Given the description of an element on the screen output the (x, y) to click on. 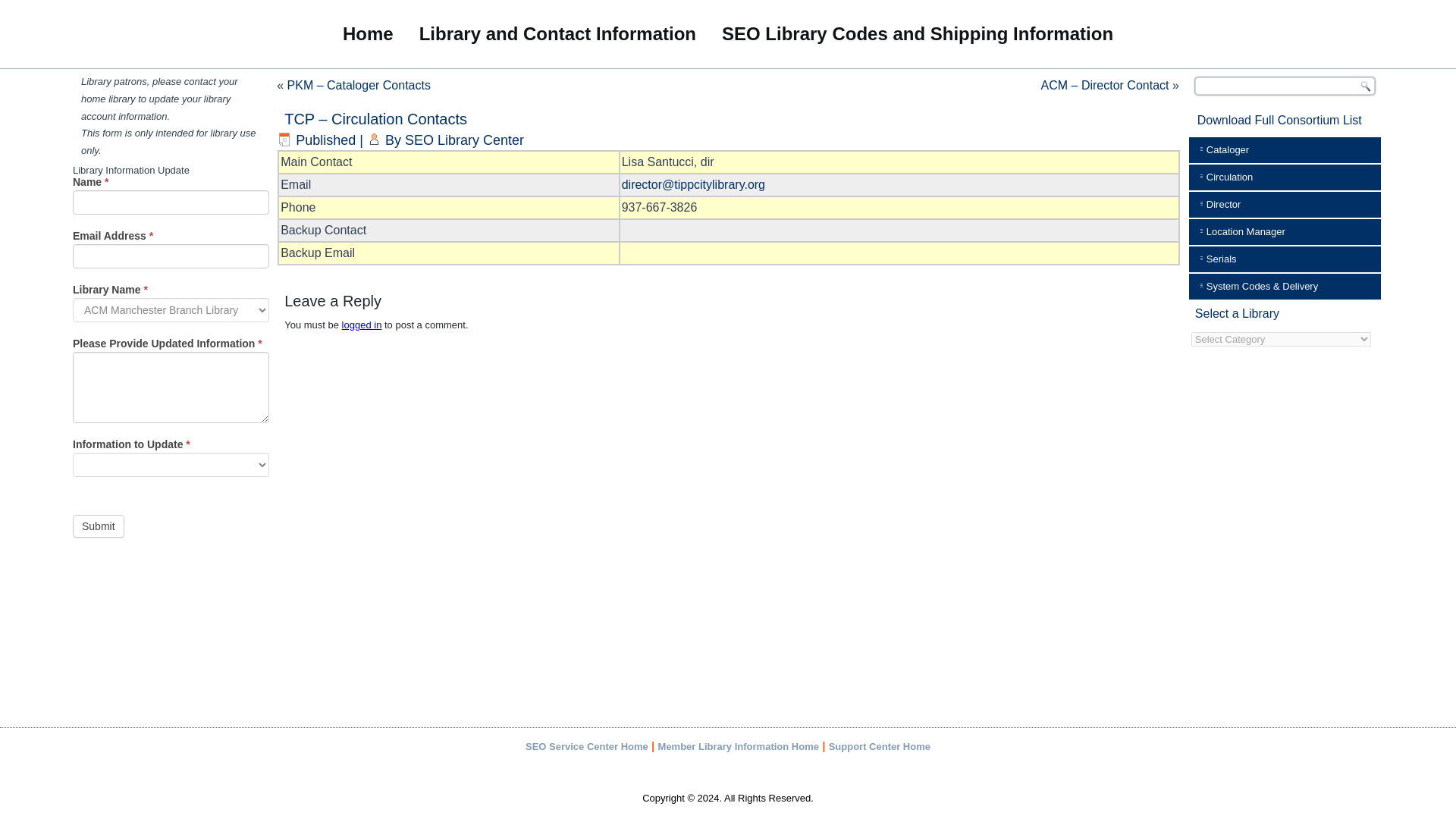
Circulation (1284, 177)
Home (368, 33)
Location Manager (1284, 231)
SEO Library Codes and Shipping Information (917, 33)
Member Library Information Home (738, 746)
Support Center Home (879, 746)
Home (368, 33)
Submit (97, 526)
Library and Contact Information (557, 33)
Director (1284, 204)
Cataloger (1284, 149)
Library and Contact Information (557, 33)
SEO Library Center (464, 140)
Serials (1284, 258)
SEO Service Center Home (586, 746)
